Given the description of an element on the screen output the (x, y) to click on. 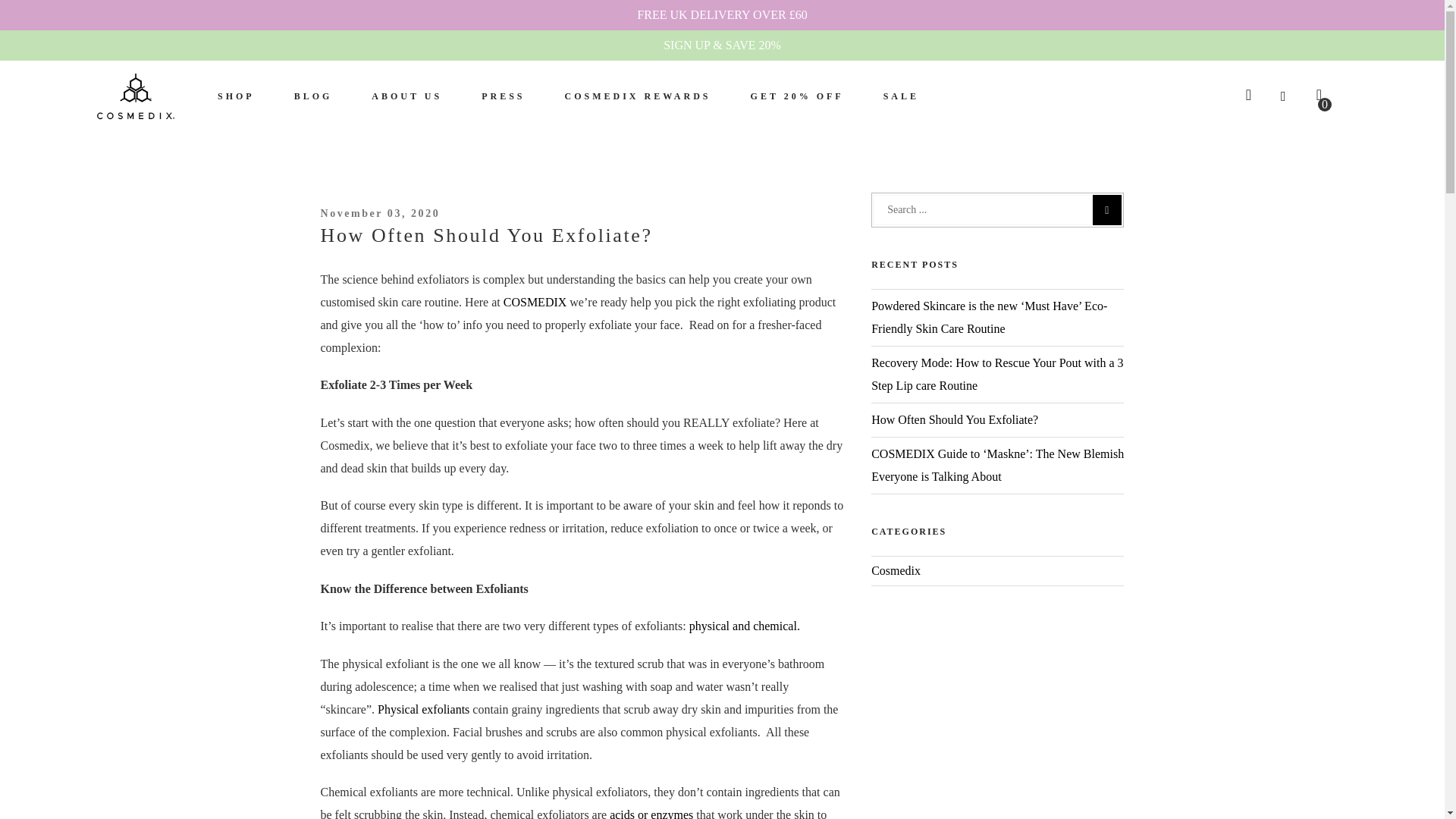
Show articles tagged Cosmedix (895, 570)
